Given the description of an element on the screen output the (x, y) to click on. 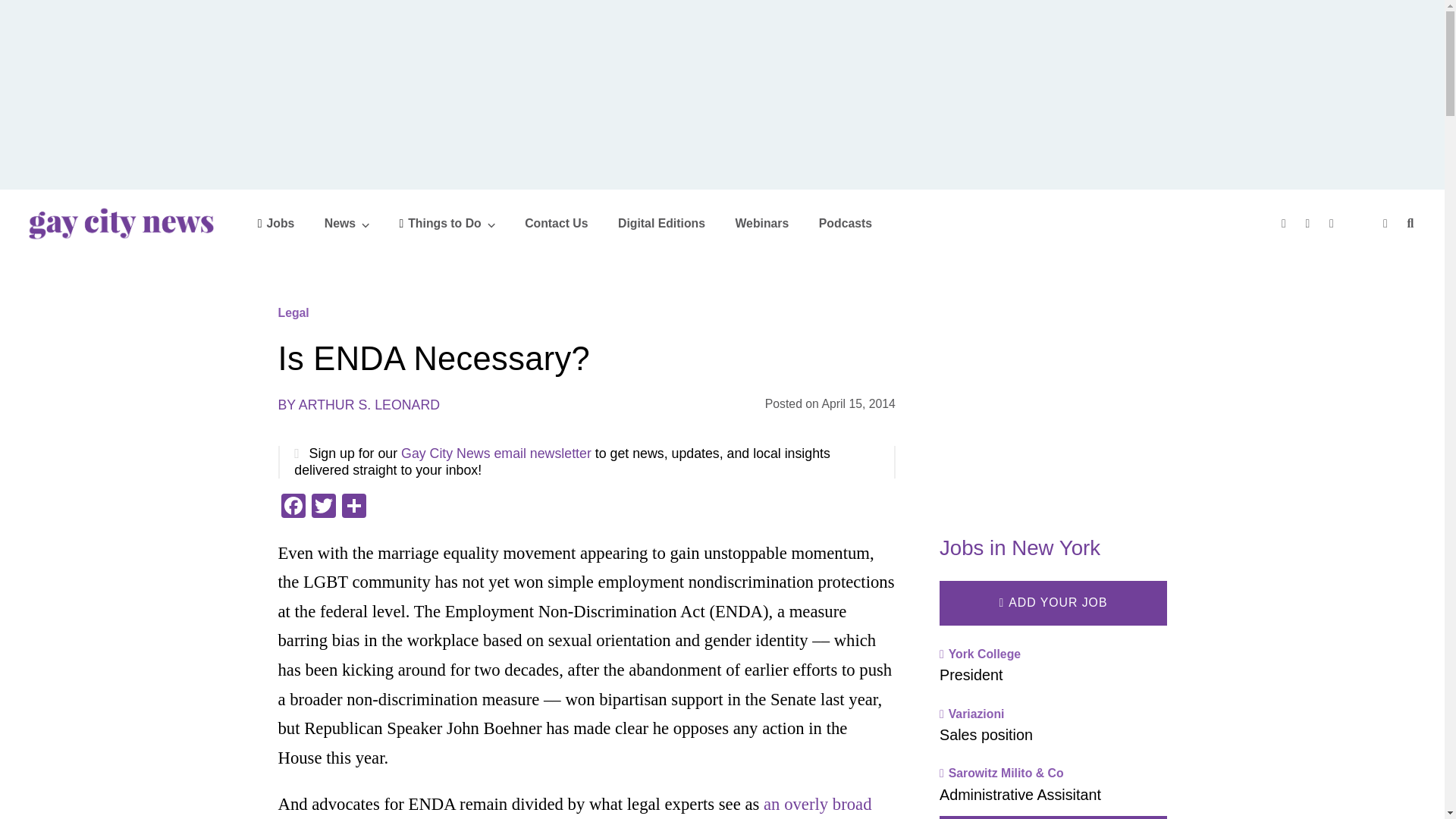
Things to Do (446, 223)
Podcasts (845, 223)
Twitter (322, 507)
Jobs (276, 223)
Digital Editions (660, 223)
Webinars (762, 223)
Facebook (292, 507)
News (346, 223)
Contact Us (556, 223)
